Given the description of an element on the screen output the (x, y) to click on. 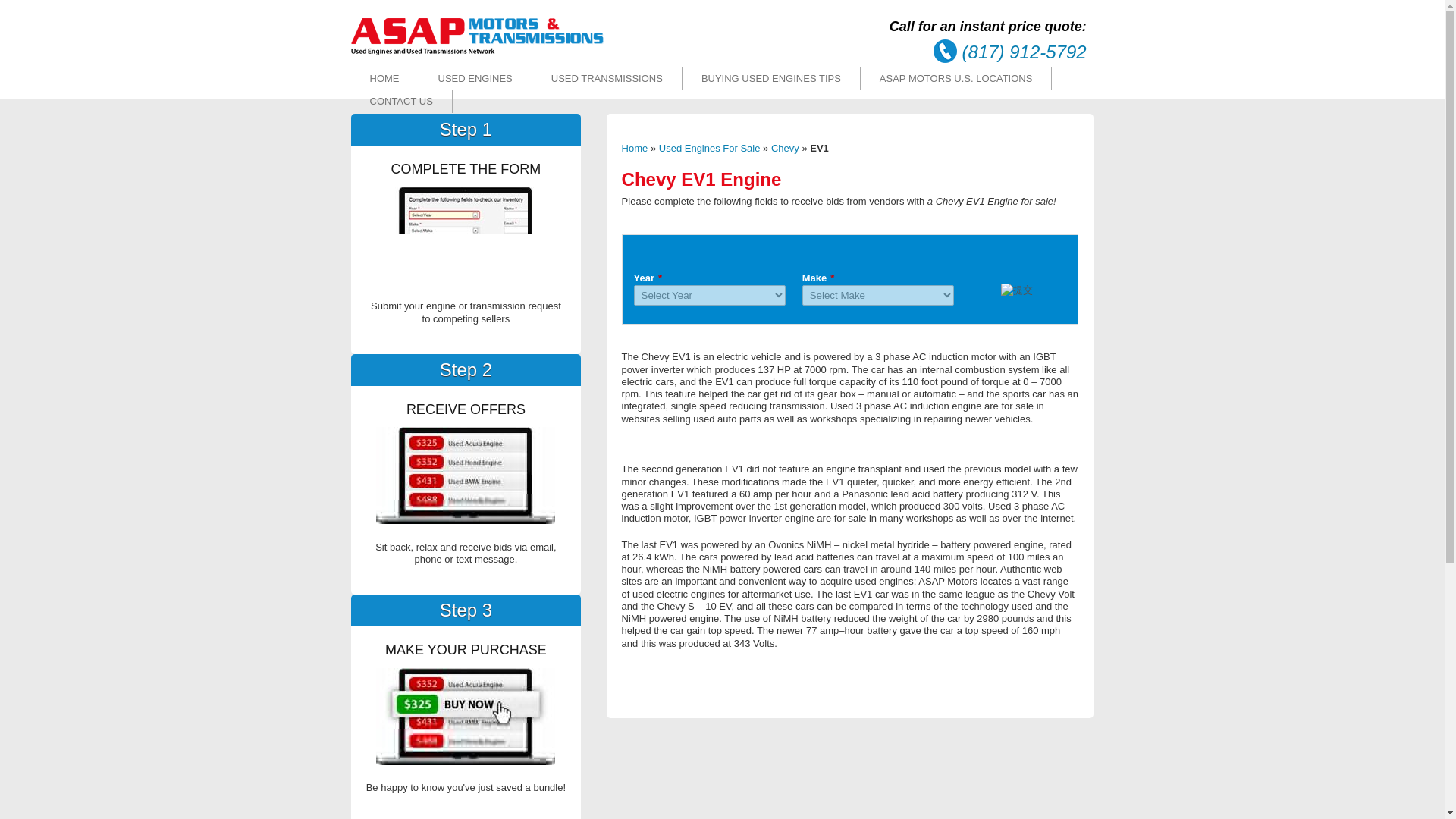
RECEIVE OFFERS (464, 715)
USED ENGINES (475, 78)
COMPLETE THE FORM (464, 234)
ASAP MOTORS U.S. LOCATIONS (955, 78)
HOME (383, 78)
USED TRANSMISSIONS (606, 78)
ASAP MOTORS (477, 51)
RECEIVE OFFERS (464, 475)
BUYING USED ENGINES TIPS (771, 78)
